Given the description of an element on the screen output the (x, y) to click on. 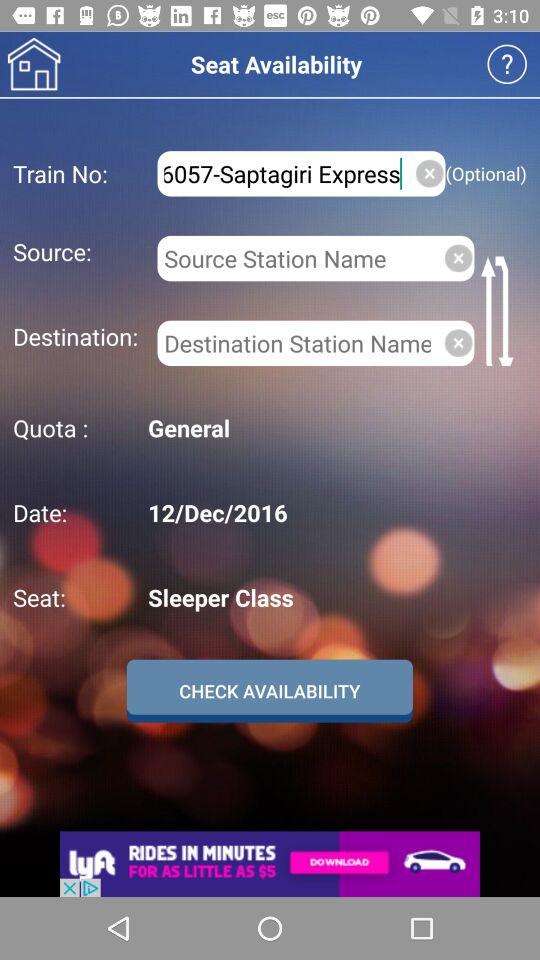
delete this selection (458, 342)
